Given the description of an element on the screen output the (x, y) to click on. 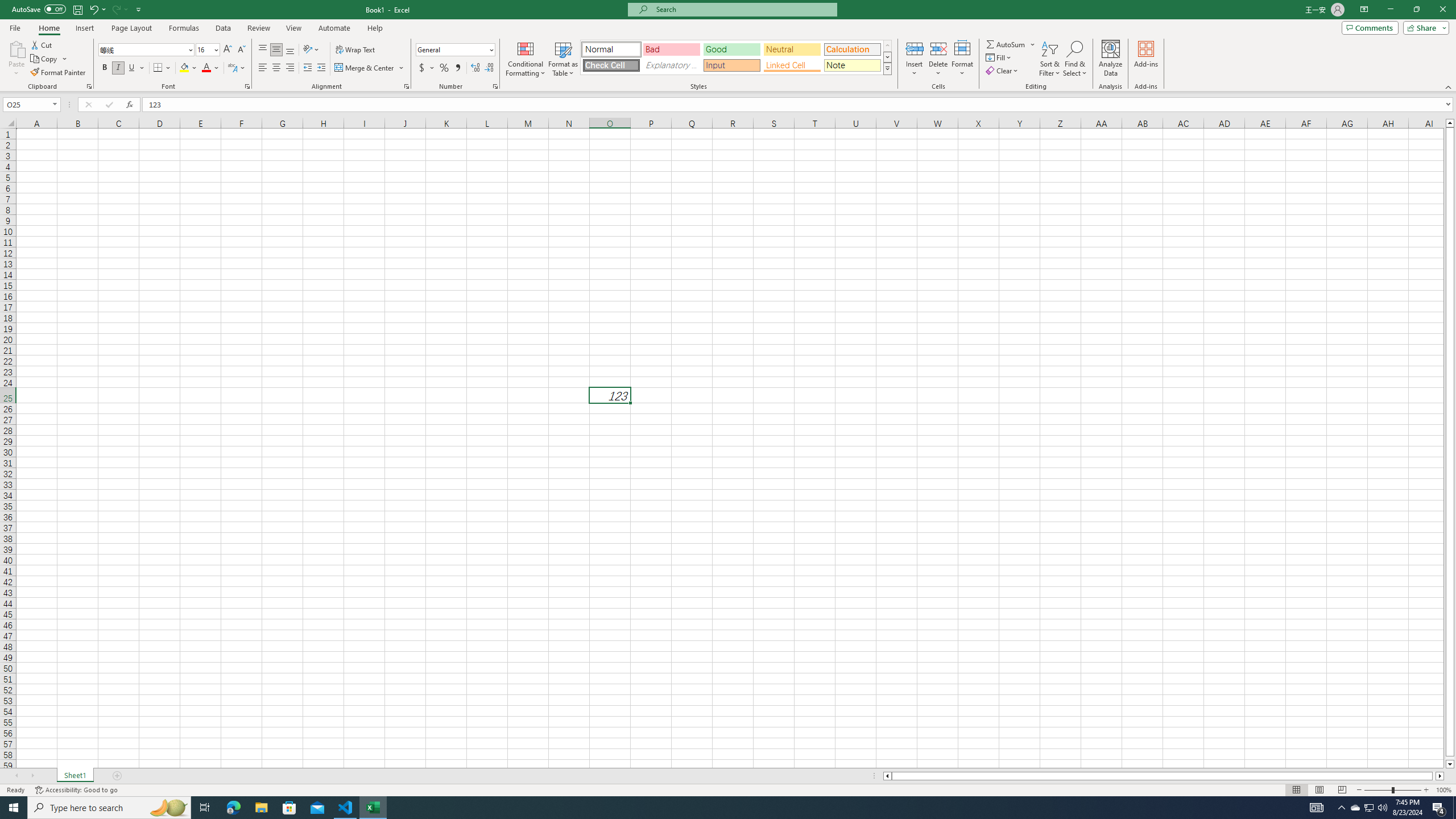
Percent Style (443, 67)
Comma Style (457, 67)
Calculation (852, 49)
Orientation (311, 49)
Increase Indent (320, 67)
Font Size (207, 49)
Underline (131, 67)
